Given the description of an element on the screen output the (x, y) to click on. 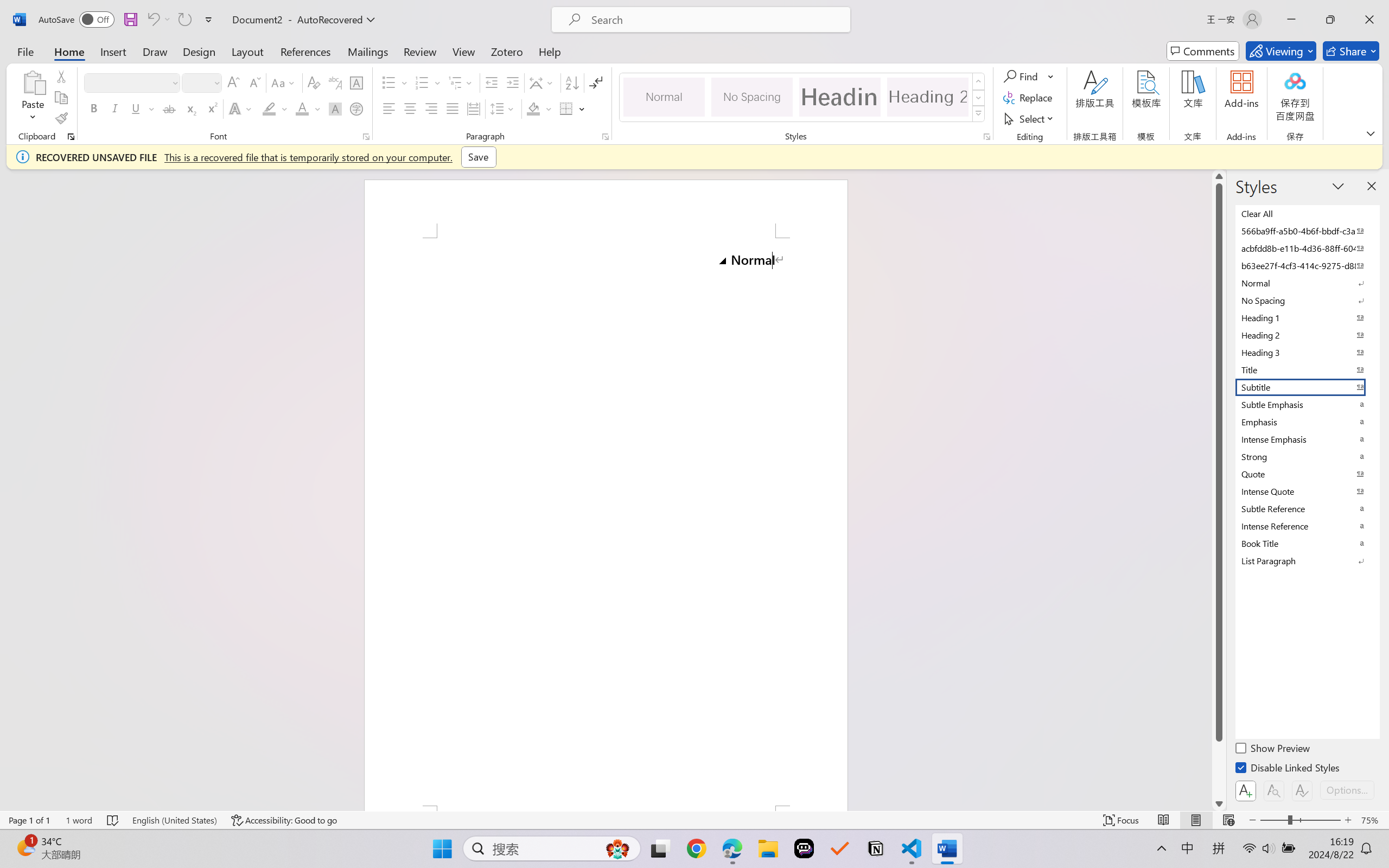
Intense Emphasis (1306, 438)
Class: NetUIScrollBar (1219, 489)
Clear All (1306, 213)
Show/Hide Editing Marks (595, 82)
Clear Formatting (313, 82)
Page 1 content (605, 521)
Font... (365, 136)
Justify (452, 108)
Can't Undo (152, 19)
Decrease Indent (491, 82)
Text Highlight Color Yellow (269, 108)
